Given the description of an element on the screen output the (x, y) to click on. 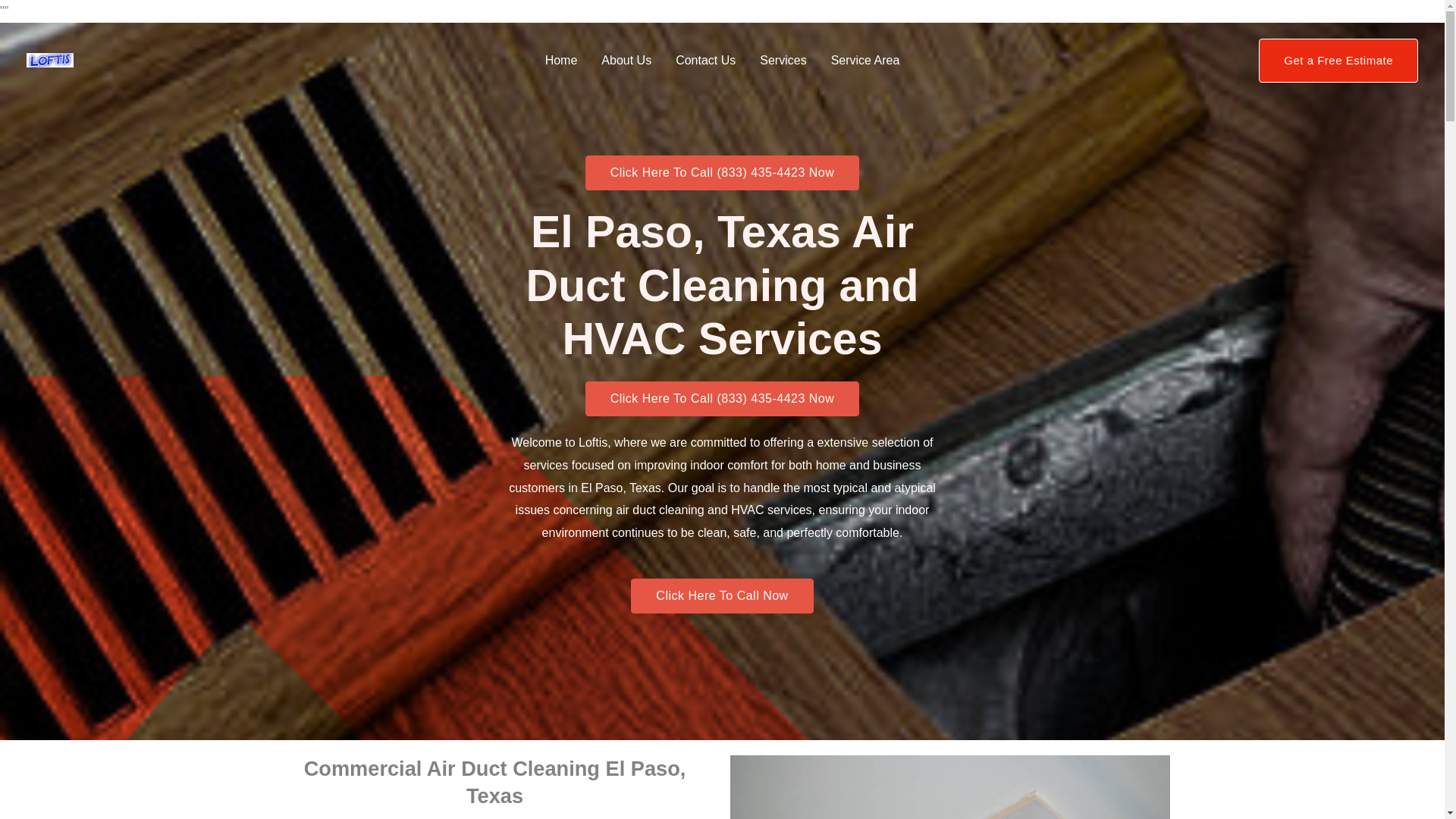
About Us (626, 60)
Click Here To Call Now (721, 595)
Service Area (865, 60)
Home (560, 60)
Contact Us (705, 60)
Get a Free Estimate (1338, 60)
Services (783, 60)
